Given the description of an element on the screen output the (x, y) to click on. 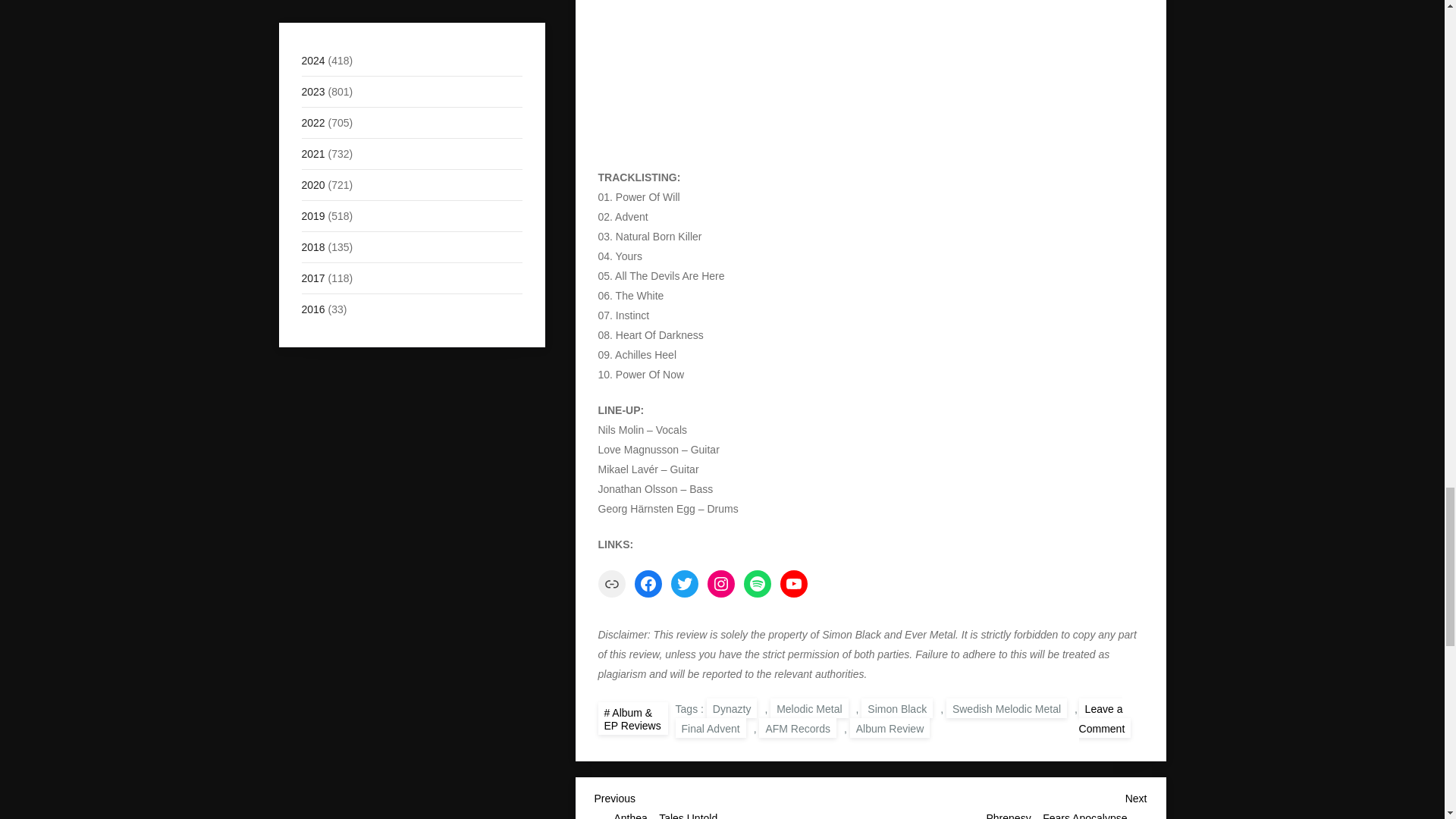
Melodic Metal (808, 708)
Swedish Melodic Metal (1006, 708)
Simon Black (897, 708)
YouTube (792, 583)
Twitter (683, 583)
Spotify (756, 583)
Instagram (719, 583)
Final Advent (710, 727)
Link (610, 583)
Facebook (647, 583)
